Given the description of an element on the screen output the (x, y) to click on. 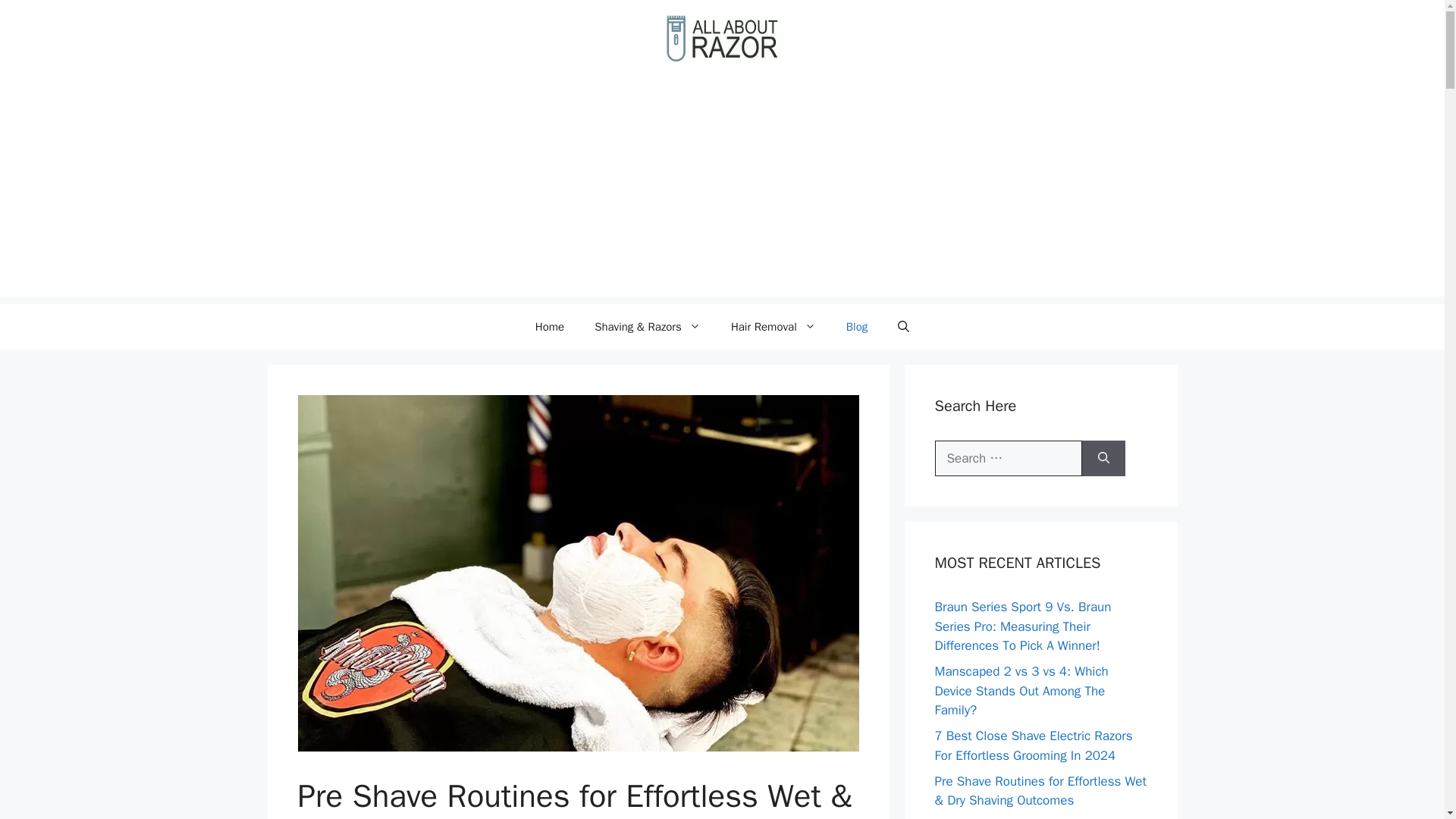
Blog (856, 326)
Home (549, 326)
Blog (856, 326)
Hair Removal (773, 326)
Search for: (1007, 458)
